Given the description of an element on the screen output the (x, y) to click on. 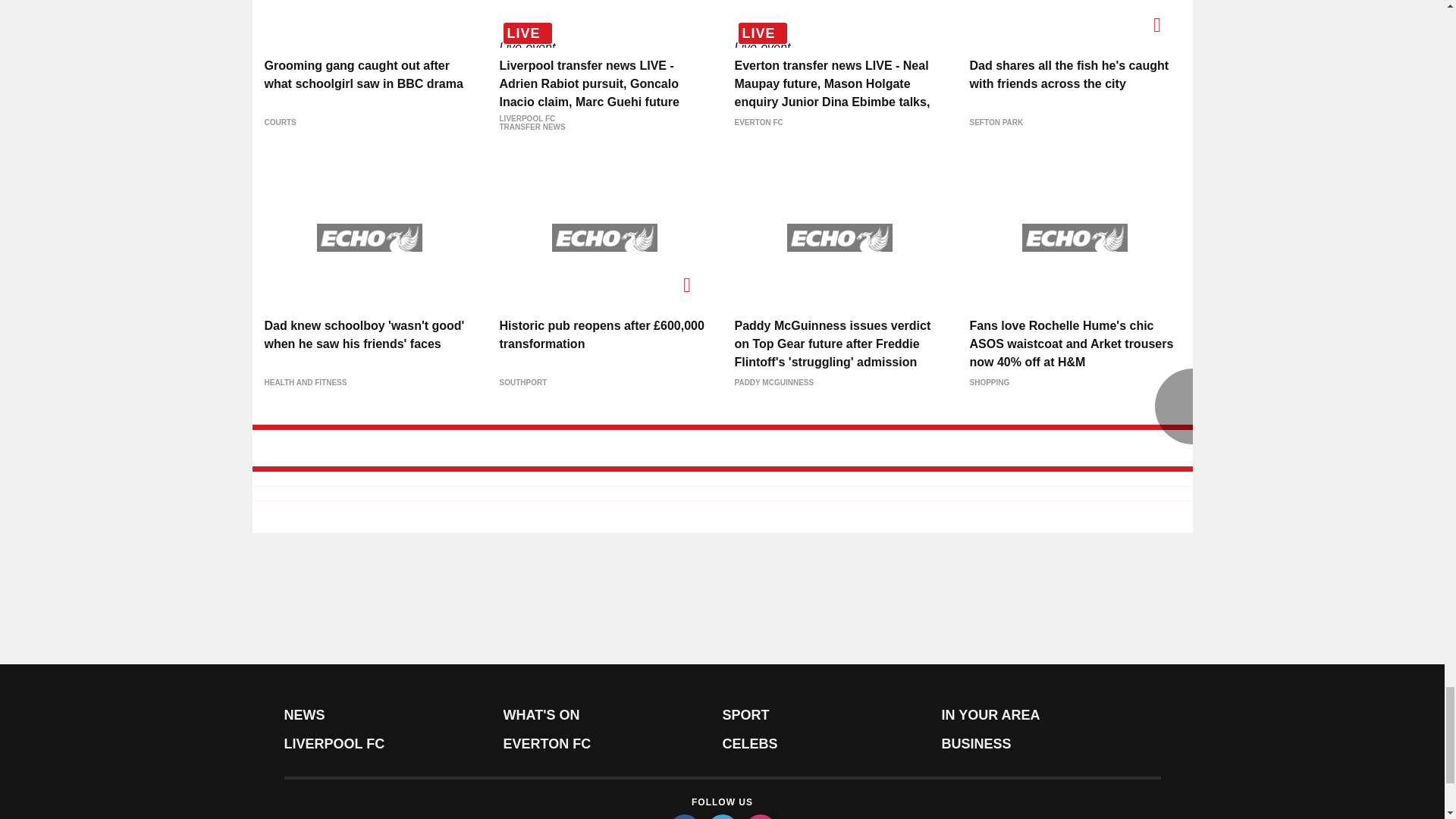
facebook (683, 816)
instagram (759, 816)
twitter (721, 816)
